Given the description of an element on the screen output the (x, y) to click on. 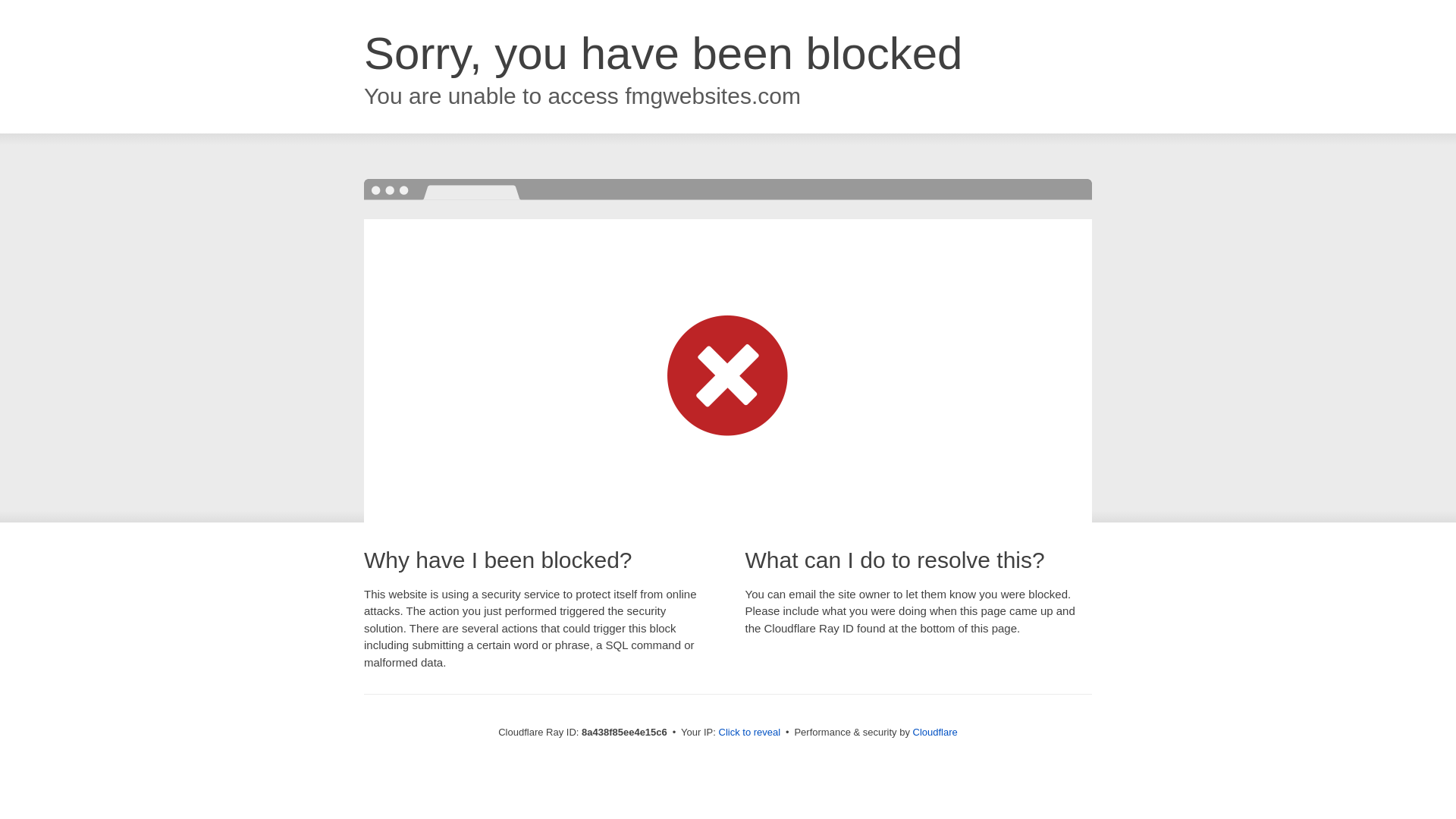
Click to reveal (749, 732)
Cloudflare (935, 731)
